Given the description of an element on the screen output the (x, y) to click on. 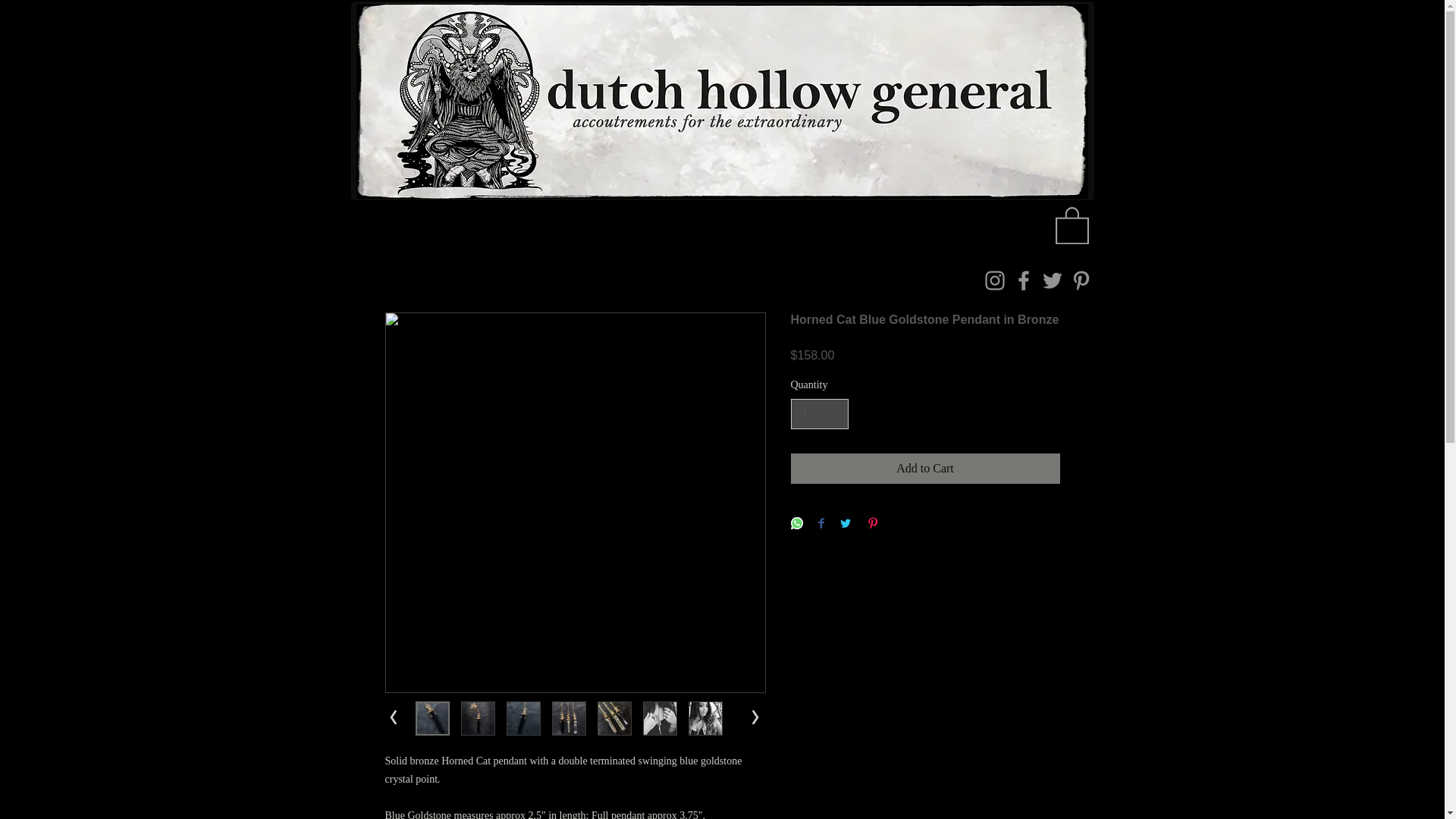
Add to Cart (924, 468)
1 (818, 413)
